Given the description of an element on the screen output the (x, y) to click on. 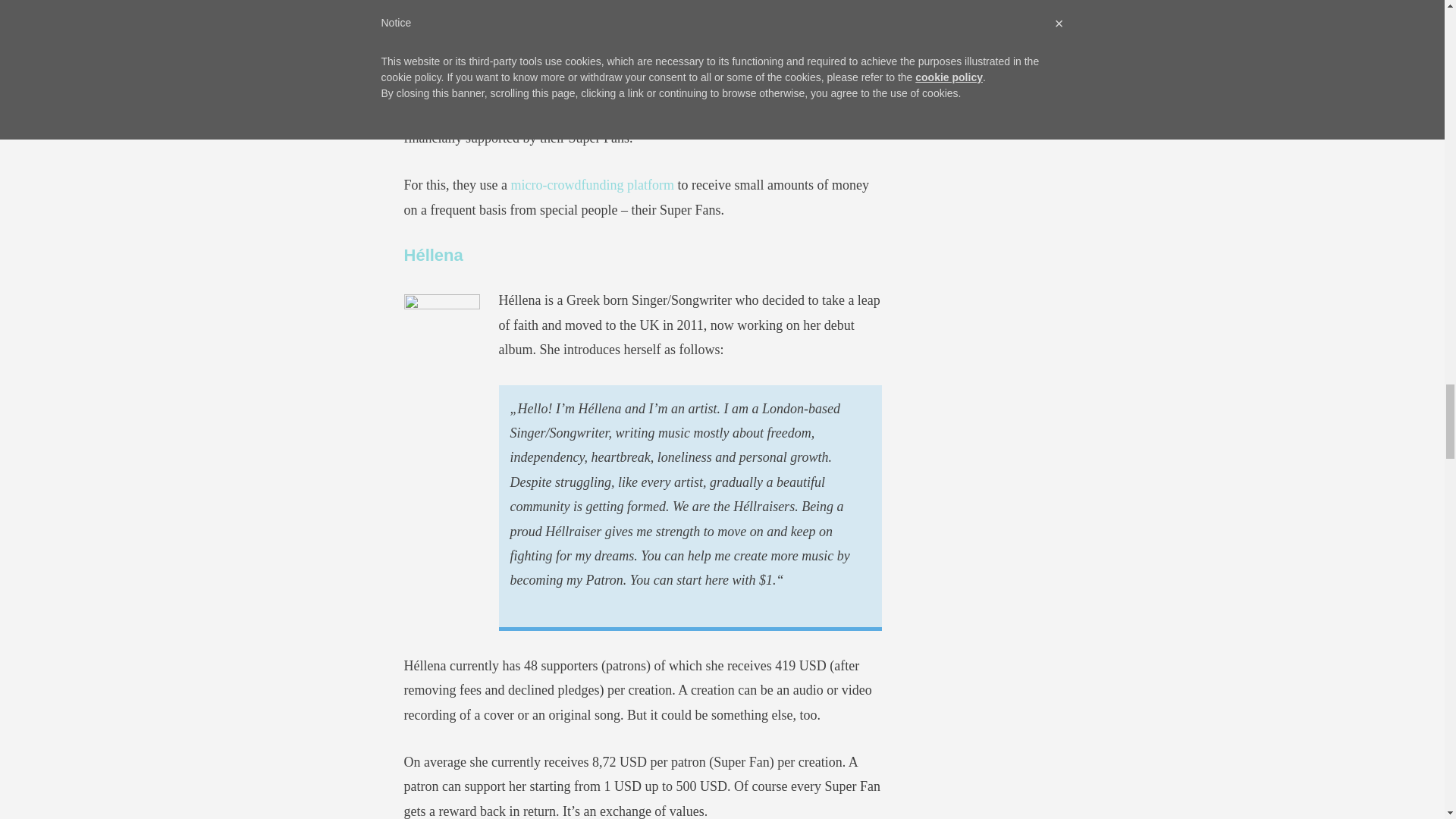
micro-crowdfunding platform (592, 184)
